Given the description of an element on the screen output the (x, y) to click on. 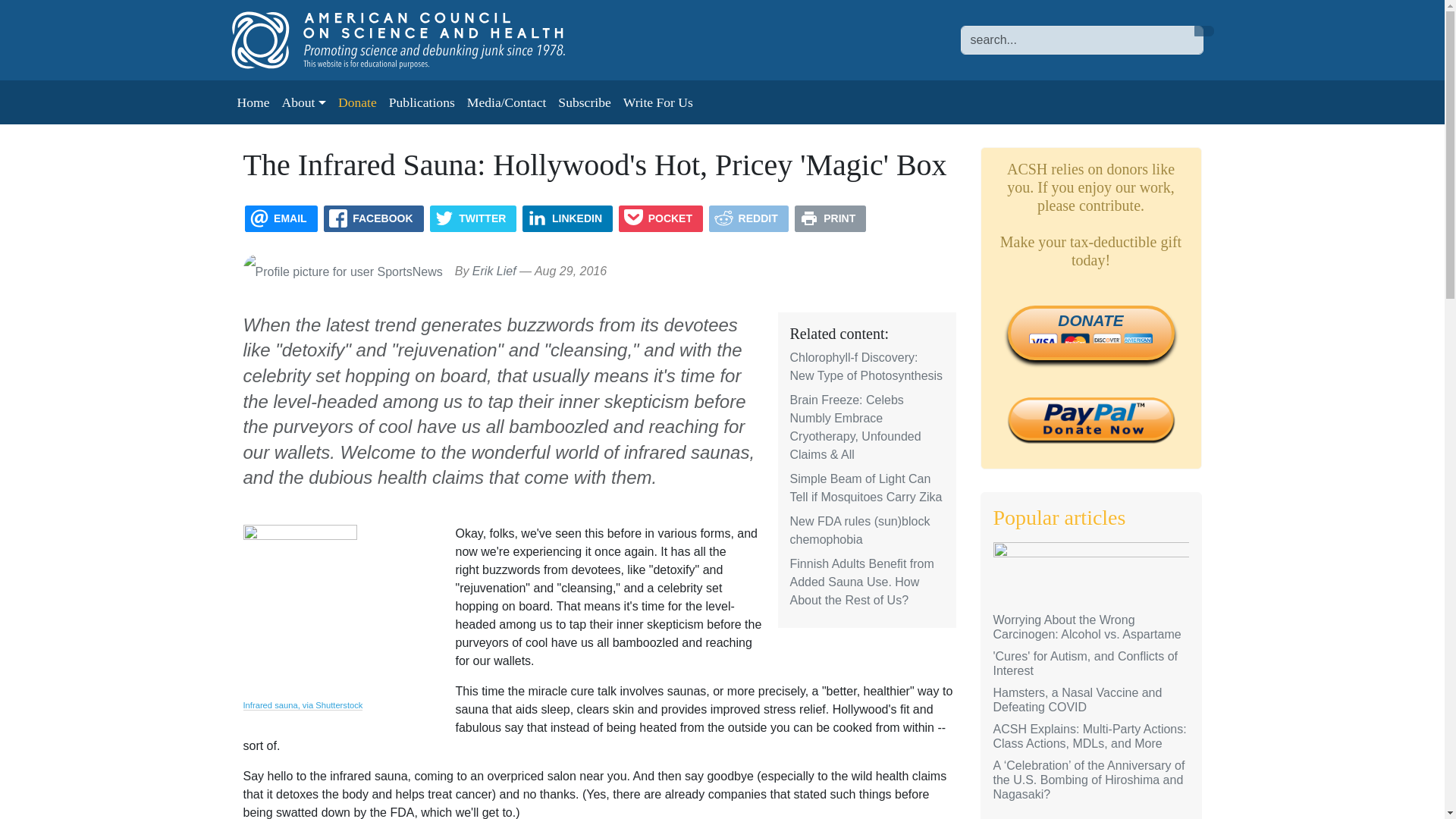
Skip to main content (60, 10)
Expand menu About (303, 101)
Erik Lief (493, 270)
PRINT (830, 218)
Home (252, 101)
Donate (356, 101)
Infrared sauna, via Shutterstock (302, 705)
POCKET (660, 218)
LINKEDIN (567, 218)
